Given the description of an element on the screen output the (x, y) to click on. 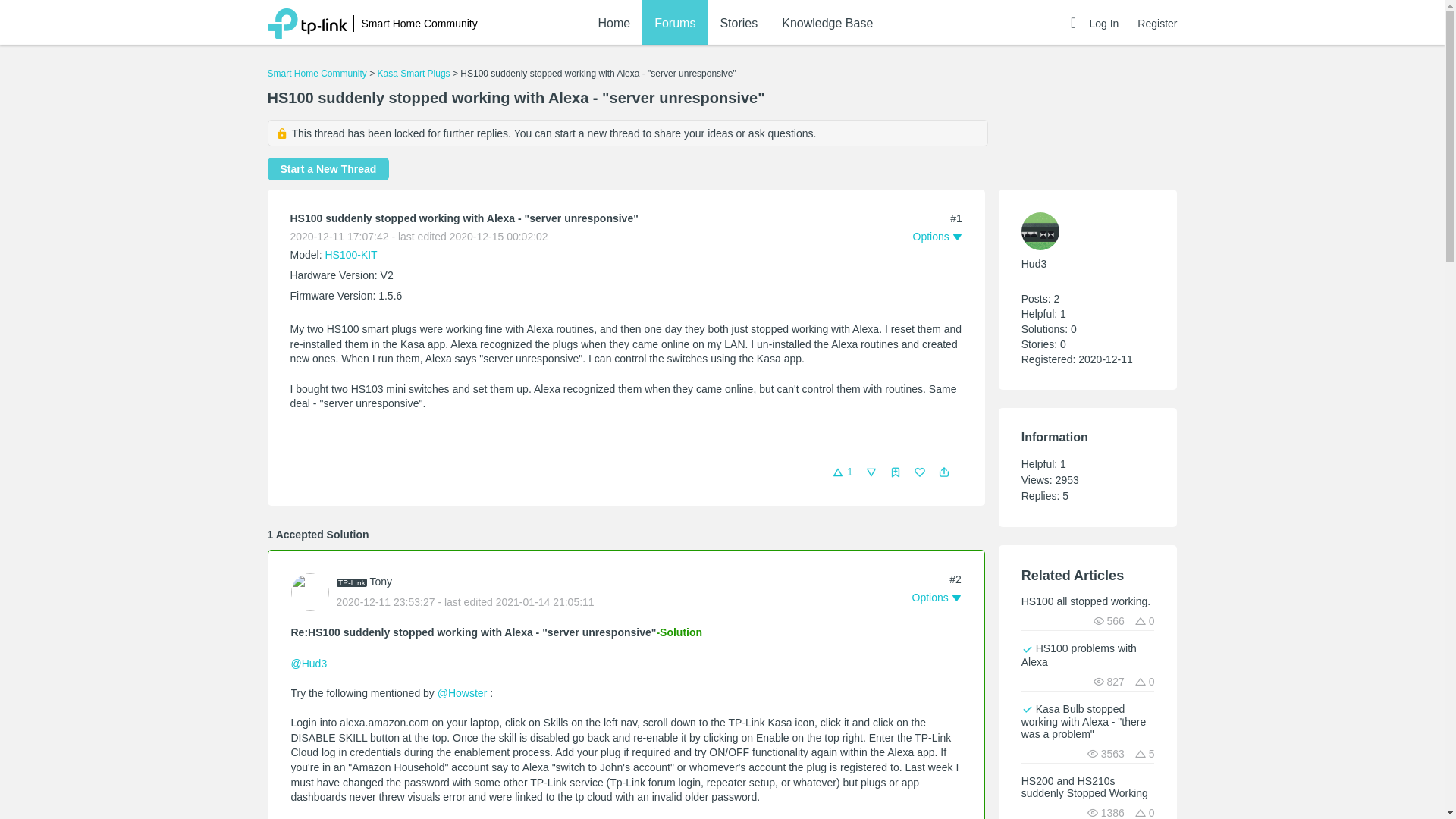
Smart Home Community (316, 72)
Hud3 (1034, 263)
Start a New Thread (327, 168)
Start a New Thread (327, 169)
HS100-KIT (350, 254)
Log In (1108, 23)
Tony (381, 581)
Kasa Smart Plugs (413, 72)
Register (1156, 23)
Smart Home Community (418, 23)
